Given the description of an element on the screen output the (x, y) to click on. 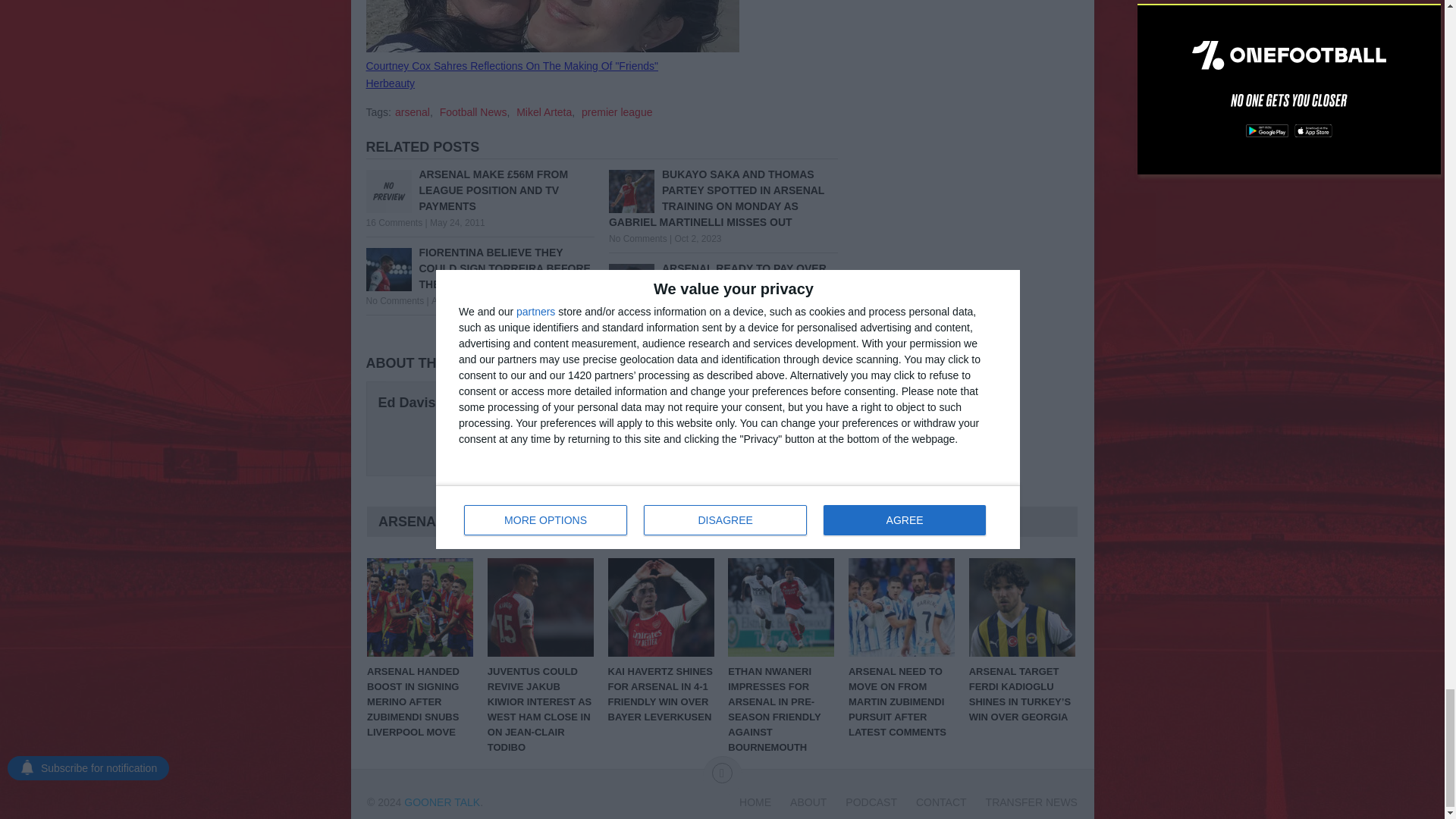
premier league (616, 111)
Football News (472, 111)
No Comments (394, 300)
arsenal (411, 111)
16 Comments (393, 222)
No Comments (637, 317)
